Given the description of an element on the screen output the (x, y) to click on. 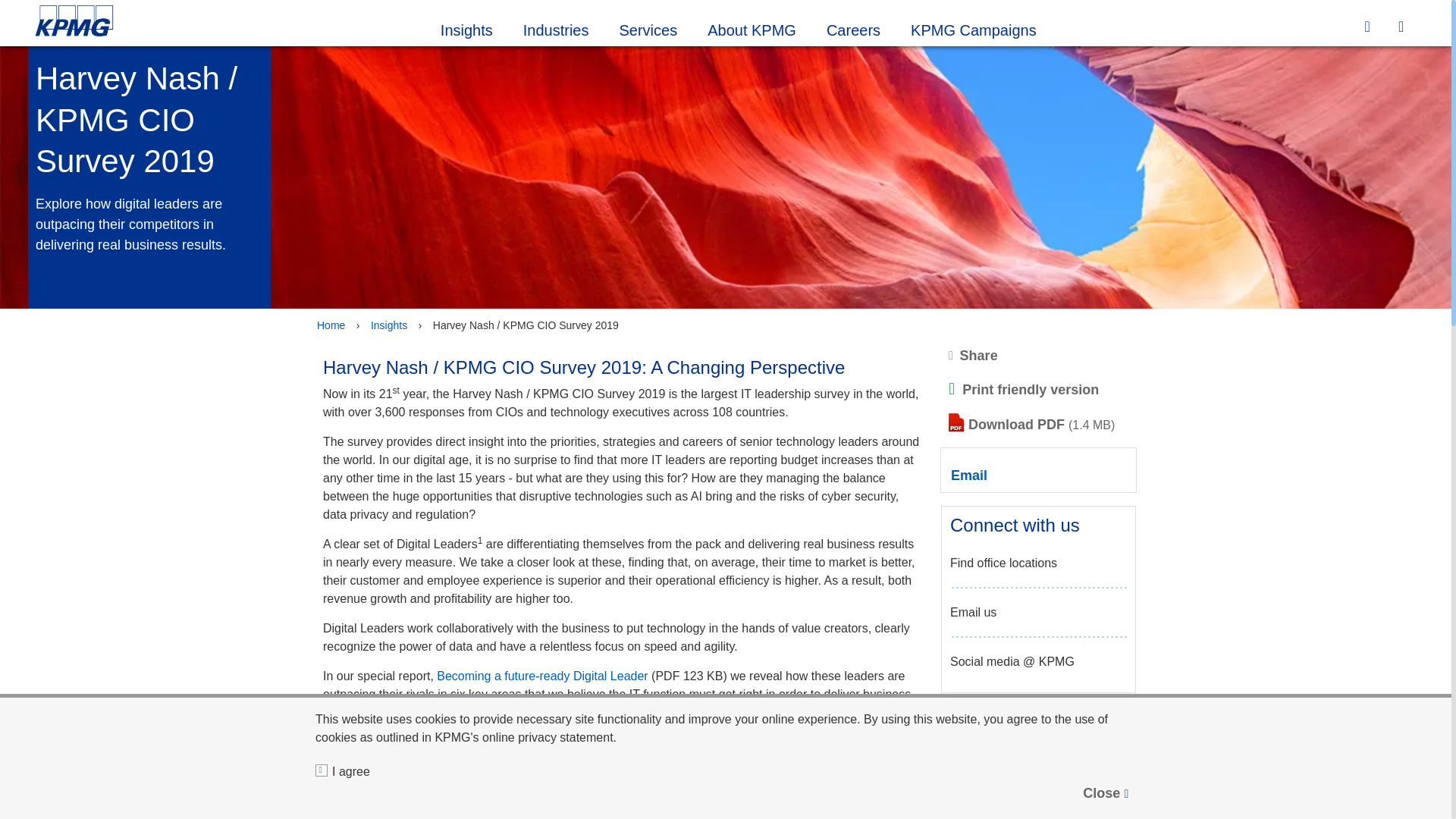
Industries (556, 28)
Insights (466, 28)
About KPMG (751, 28)
Services (648, 28)
Close (1106, 793)
on (321, 770)
